Given the description of an element on the screen output the (x, y) to click on. 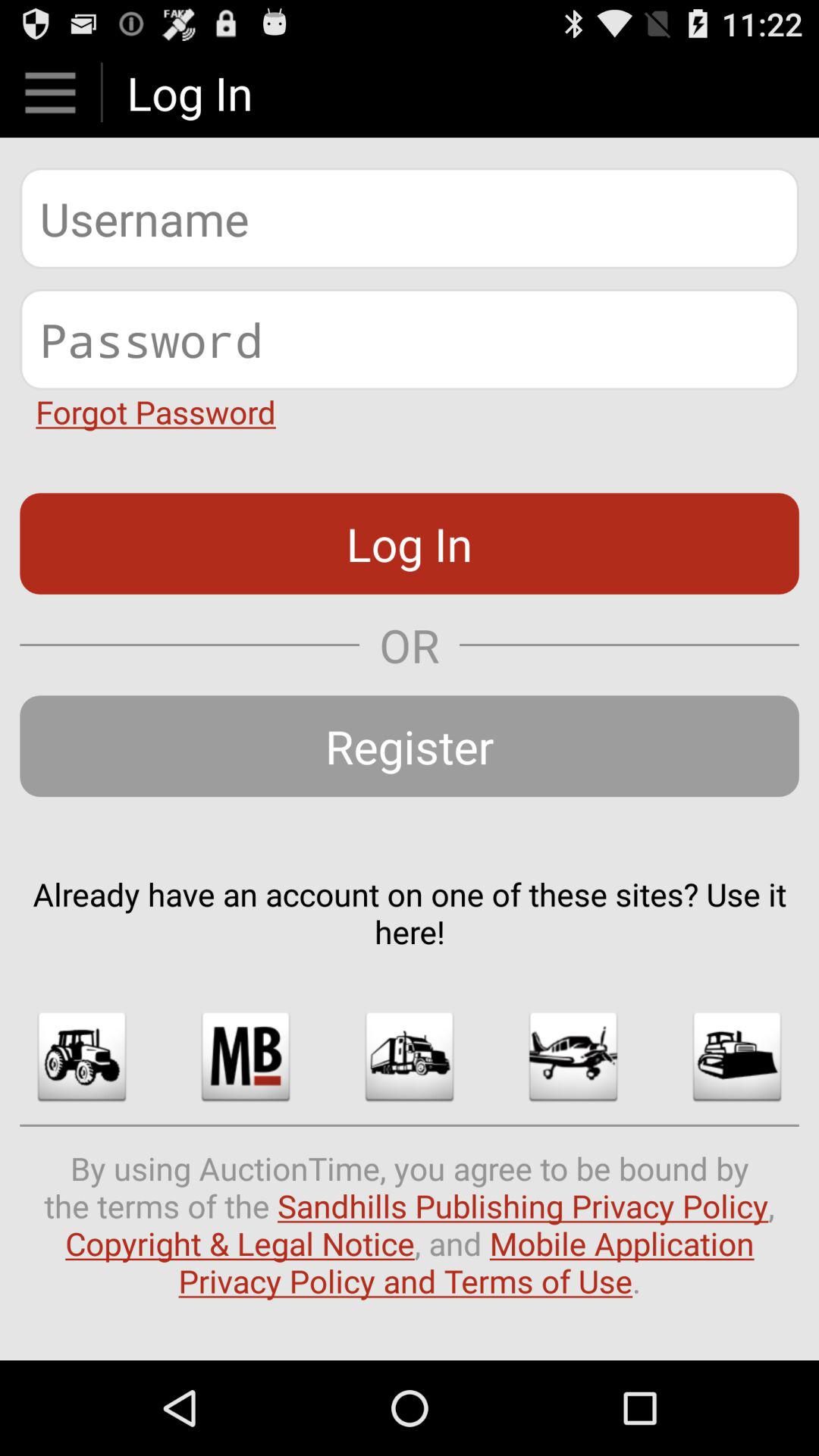
show menu (50, 92)
